Given the description of an element on the screen output the (x, y) to click on. 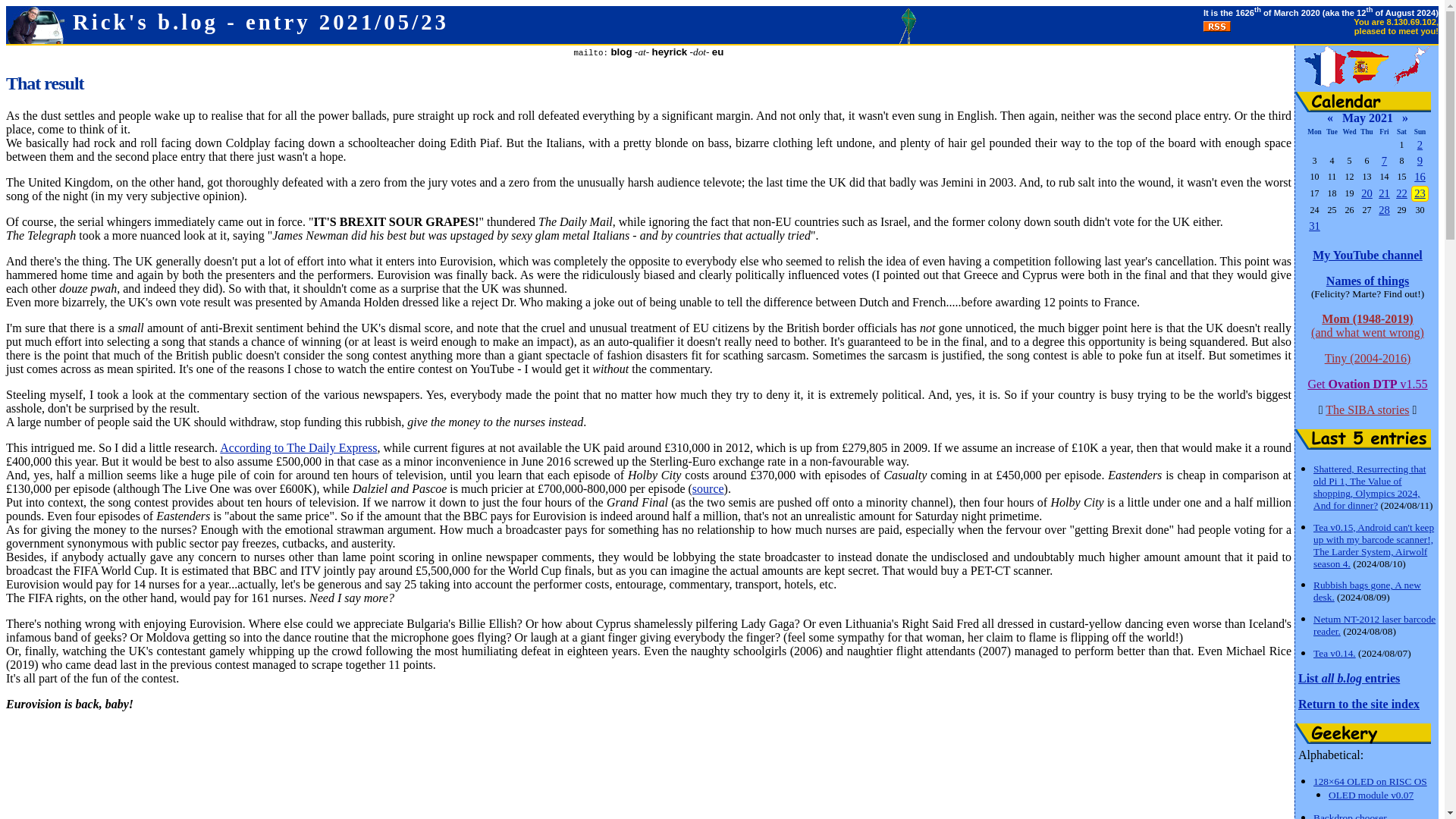
28 (1384, 209)
Eurovision 2021 Semi Final 1. (1367, 193)
16 (1419, 176)
source (708, 488)
Eurovision 2021 Grand Final. (1401, 193)
Rubbish bags gone, A new desk. (1367, 590)
May 2021 (1367, 117)
Geekery (1363, 733)
Cheap Chinese BT-309A Power Amplifier. (1314, 225)
